Given the description of an element on the screen output the (x, y) to click on. 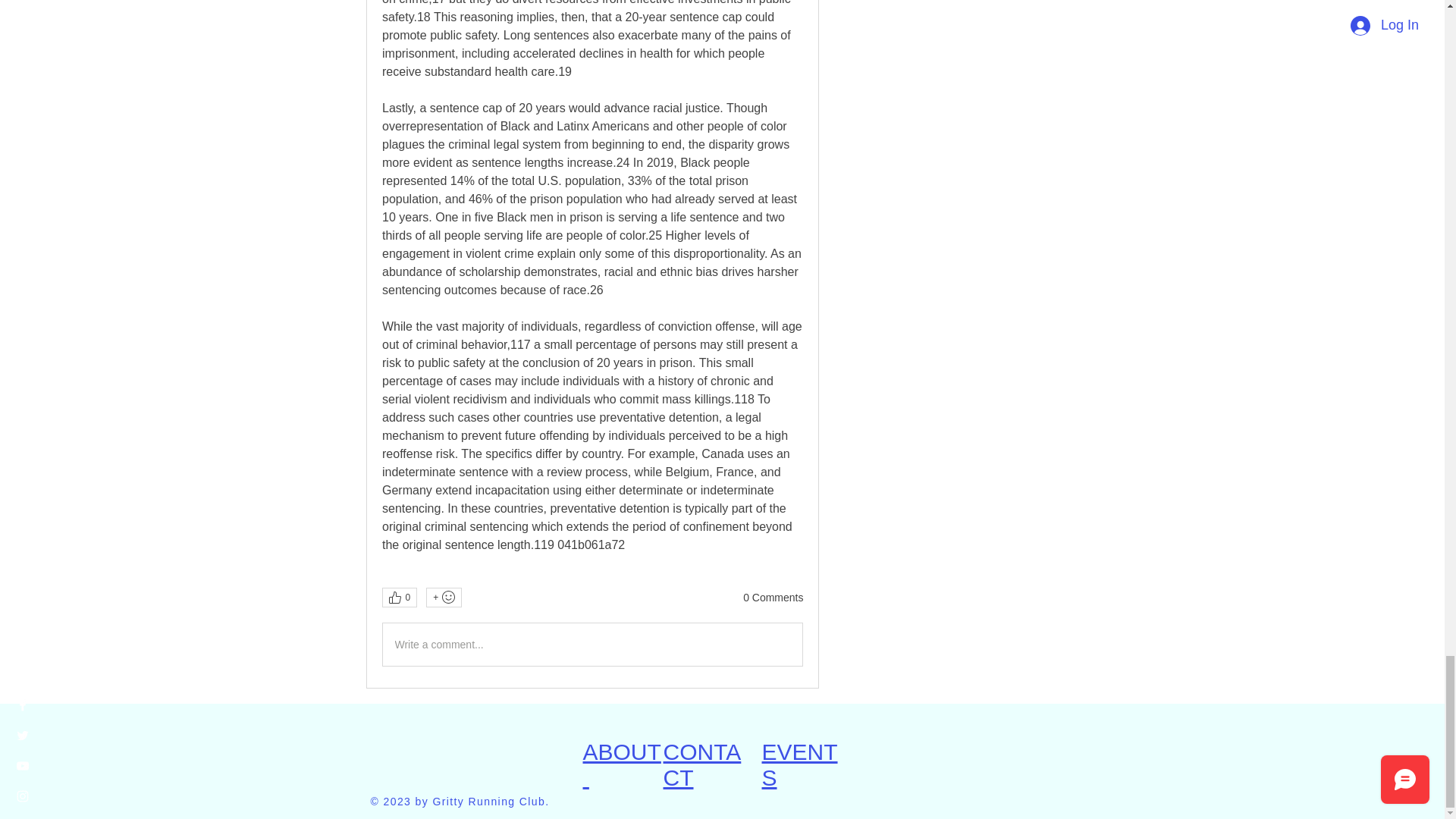
Write a comment... (591, 644)
0 Comments (772, 598)
